Given the description of an element on the screen output the (x, y) to click on. 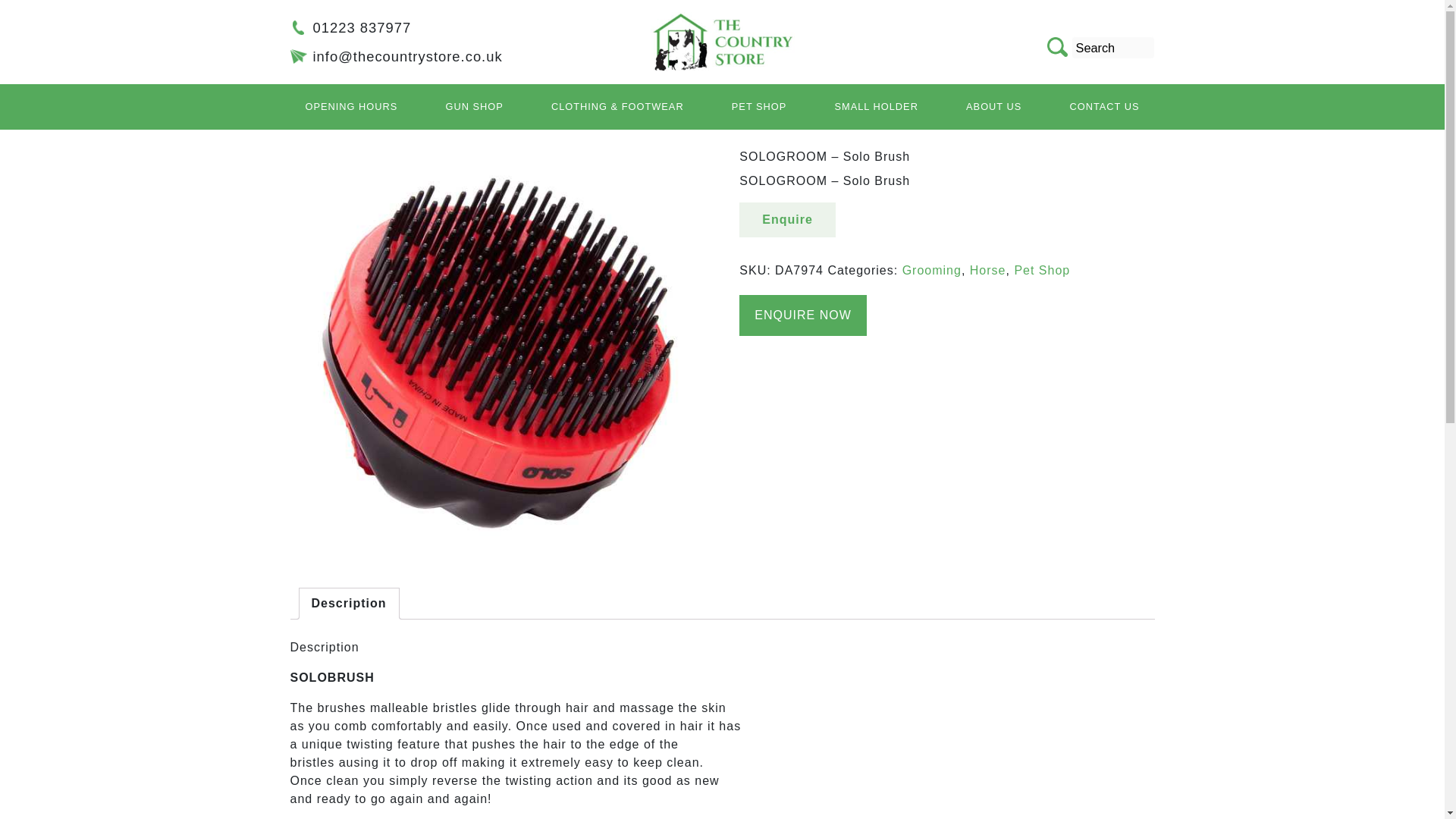
GUN SHOP (473, 106)
OPENING HOURS (350, 106)
